Given the description of an element on the screen output the (x, y) to click on. 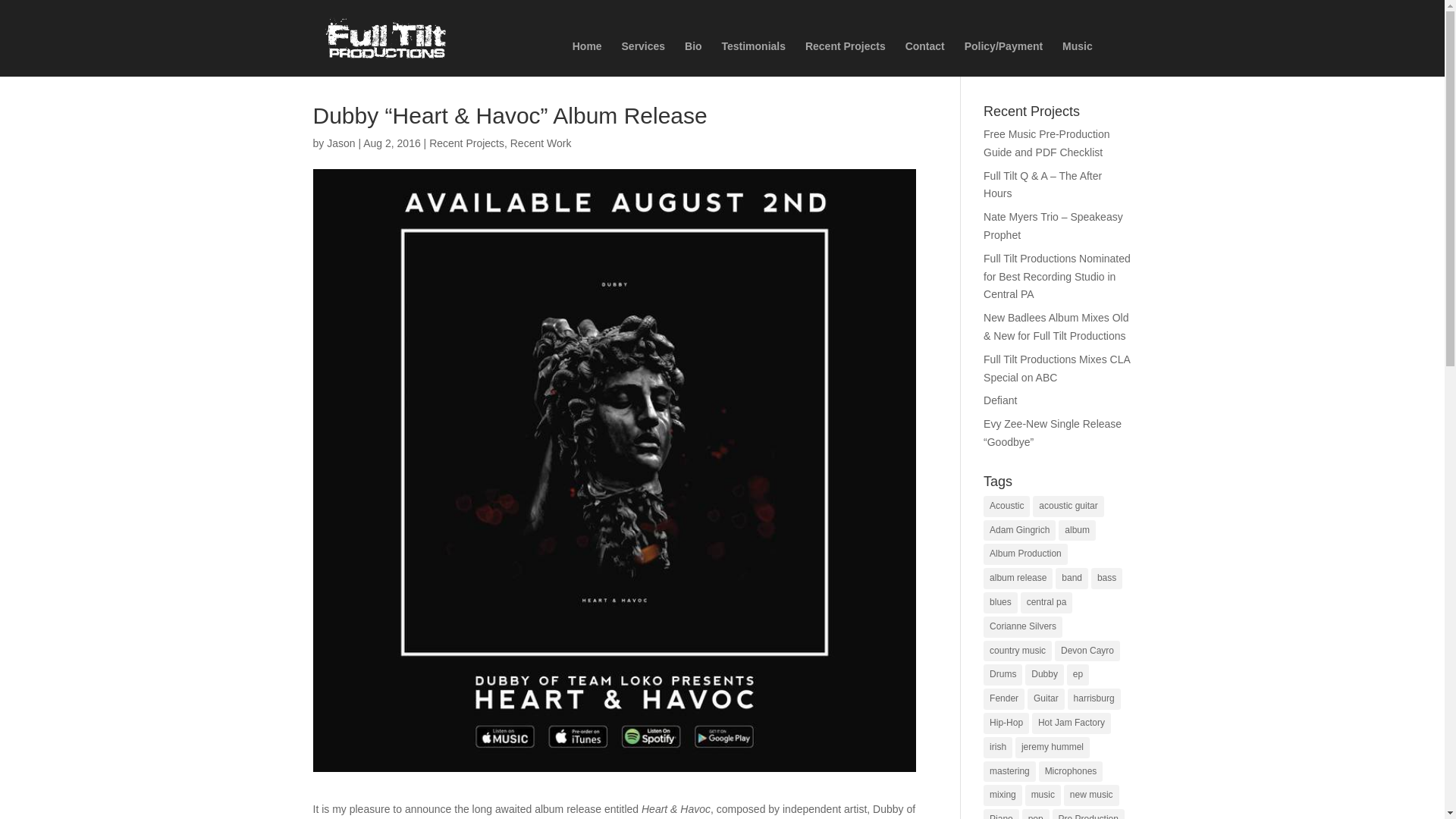
Full Tilt Productions Mixes CLA Special on ABC (1056, 368)
album release (1018, 578)
Posts by Jason (340, 143)
Jason (340, 143)
Album Production (1025, 554)
band (1071, 578)
Recent Projects (845, 58)
Testimonials (753, 58)
Services (643, 58)
Adam Gingrich (1019, 530)
central pa (1046, 602)
Contact (924, 58)
Free Music Pre-Production Guide and PDF Checklist (1046, 142)
Defiant (1000, 399)
